Given the description of an element on the screen output the (x, y) to click on. 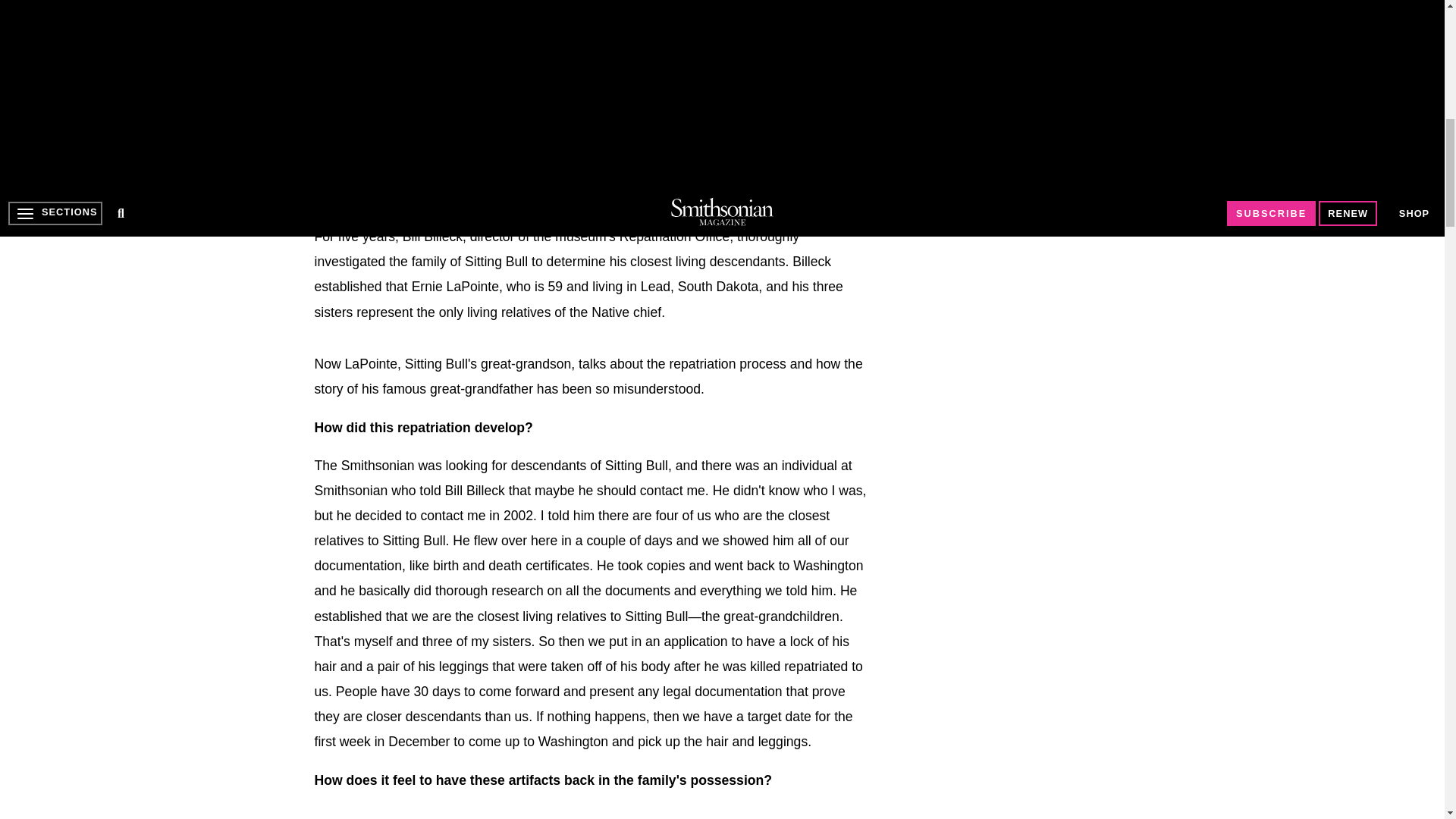
LinkedIn (387, 7)
WhatsApp (450, 7)
Facebook (325, 7)
Twitter (357, 7)
Pocket (480, 7)
Email (542, 7)
Print (511, 7)
Reddit (418, 7)
